Given the description of an element on the screen output the (x, y) to click on. 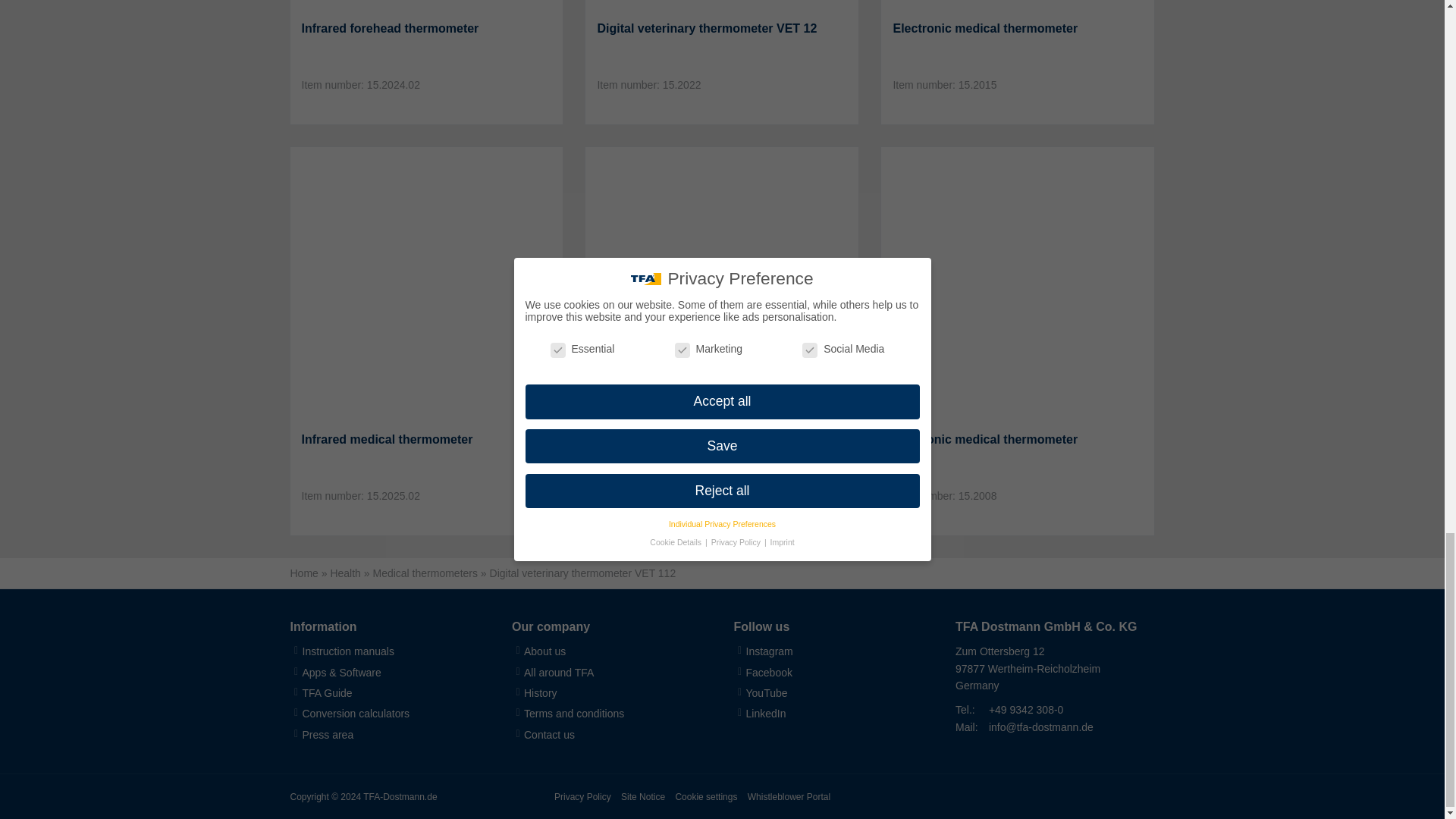
Infrared fever thermometer BODYTEMP 478 (721, 448)
Infrared medical thermometer (426, 439)
Infrared medical thermometer (425, 283)
Digital veterinary thermometer VET 12 (722, 4)
Electronic medical thermometer (1017, 4)
Digital veterinary thermometer VET 12 (721, 28)
Electronic medical thermometer (1017, 283)
Infrared fever thermometer BODYTEMP 478 (722, 283)
Infrared forehead thermometer (425, 4)
TFA Dostmann (1104, 796)
Electronic medical thermometer (1017, 439)
Infrared forehead thermometer (426, 28)
Electronic medical thermometer (1017, 28)
